Given the description of an element on the screen output the (x, y) to click on. 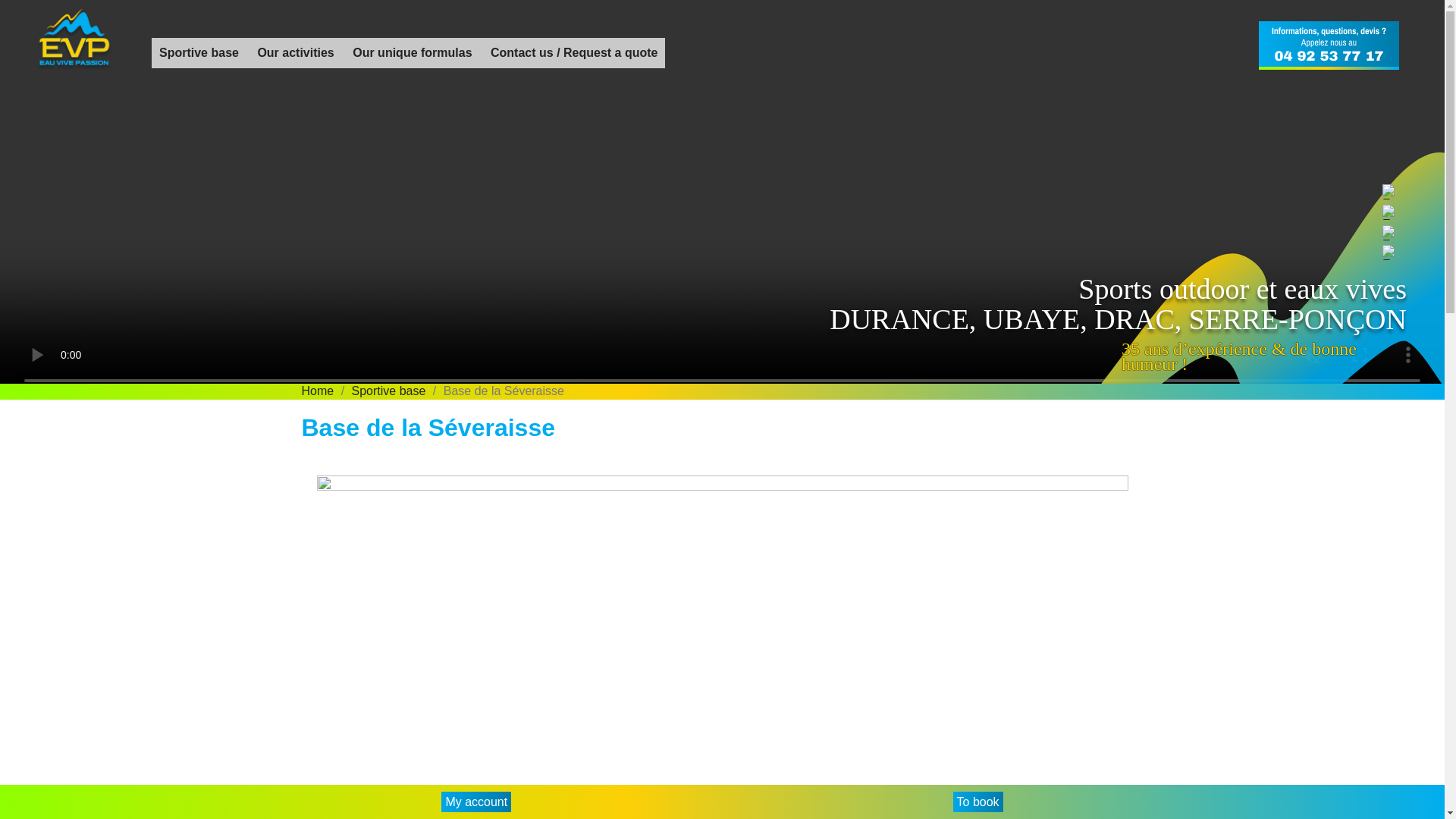
Our activities (294, 52)
Our unique formulas (412, 52)
Home (317, 390)
Sportive base (389, 390)
Sportive base (198, 52)
